Given the description of an element on the screen output the (x, y) to click on. 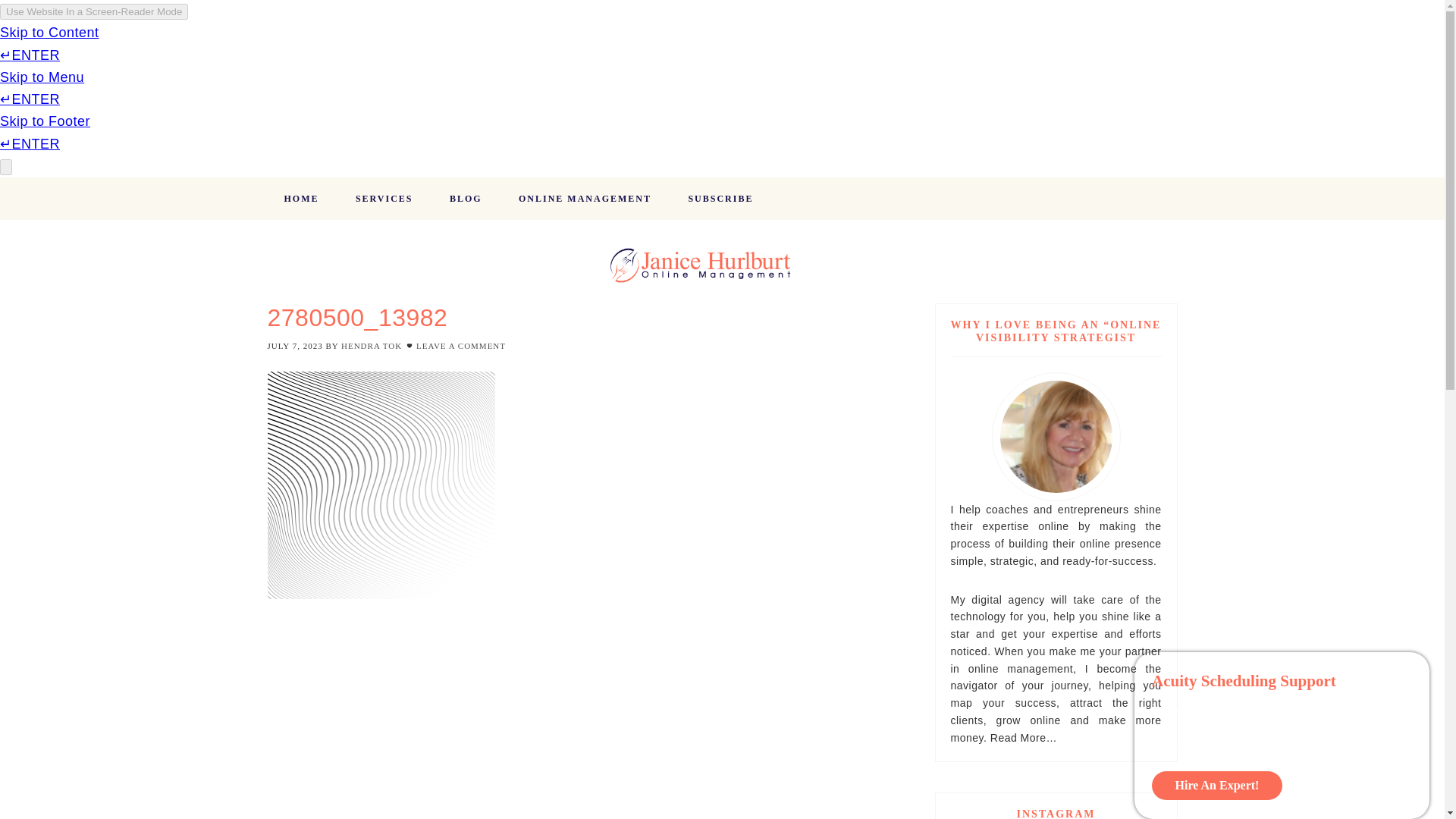
HOME (300, 198)
HENDRA TOK (370, 345)
BLOG (465, 198)
LEAVE A COMMENT (460, 345)
SERVICES (384, 198)
SUBSCRIBE (720, 198)
ONLINE MANAGEMENT (585, 198)
